Given the description of an element on the screen output the (x, y) to click on. 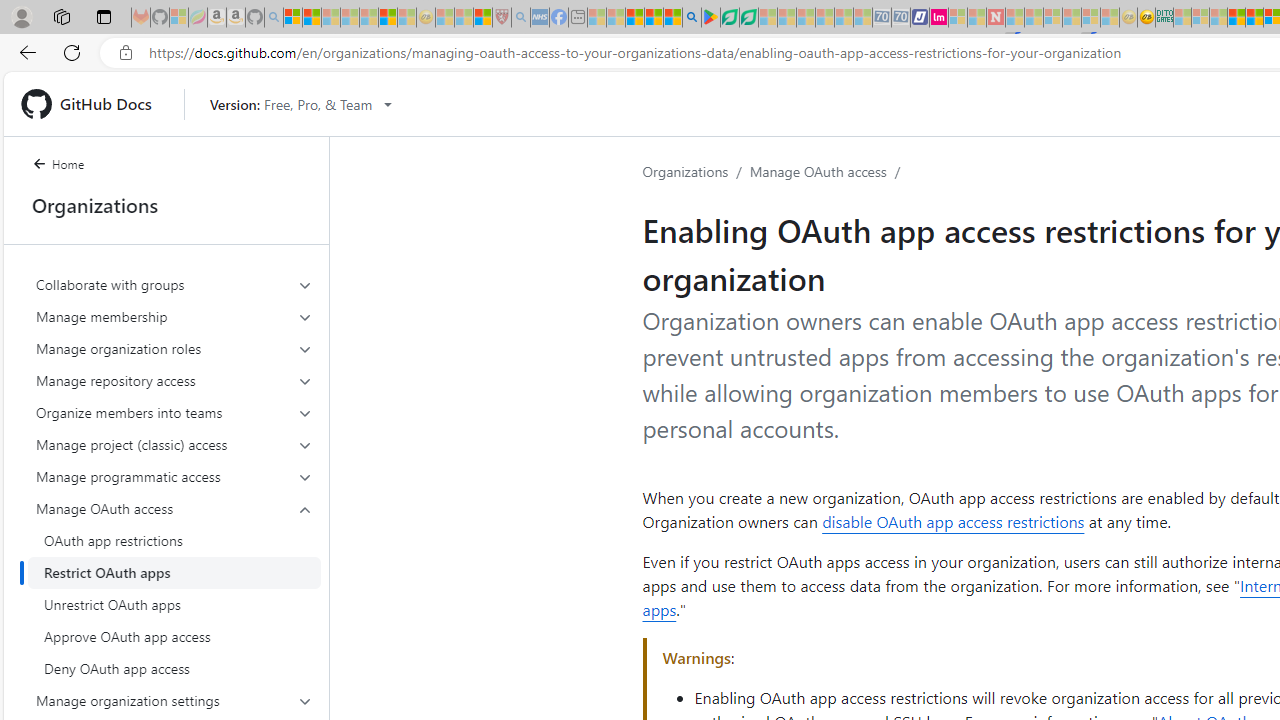
Jobs - lastminute.com Investor Portal (939, 17)
Manage membership (174, 316)
Pets - MSN (654, 17)
Manage organization roles (174, 348)
Expert Portfolios (1236, 17)
Terms of Use Agreement (729, 17)
